Given the description of an element on the screen output the (x, y) to click on. 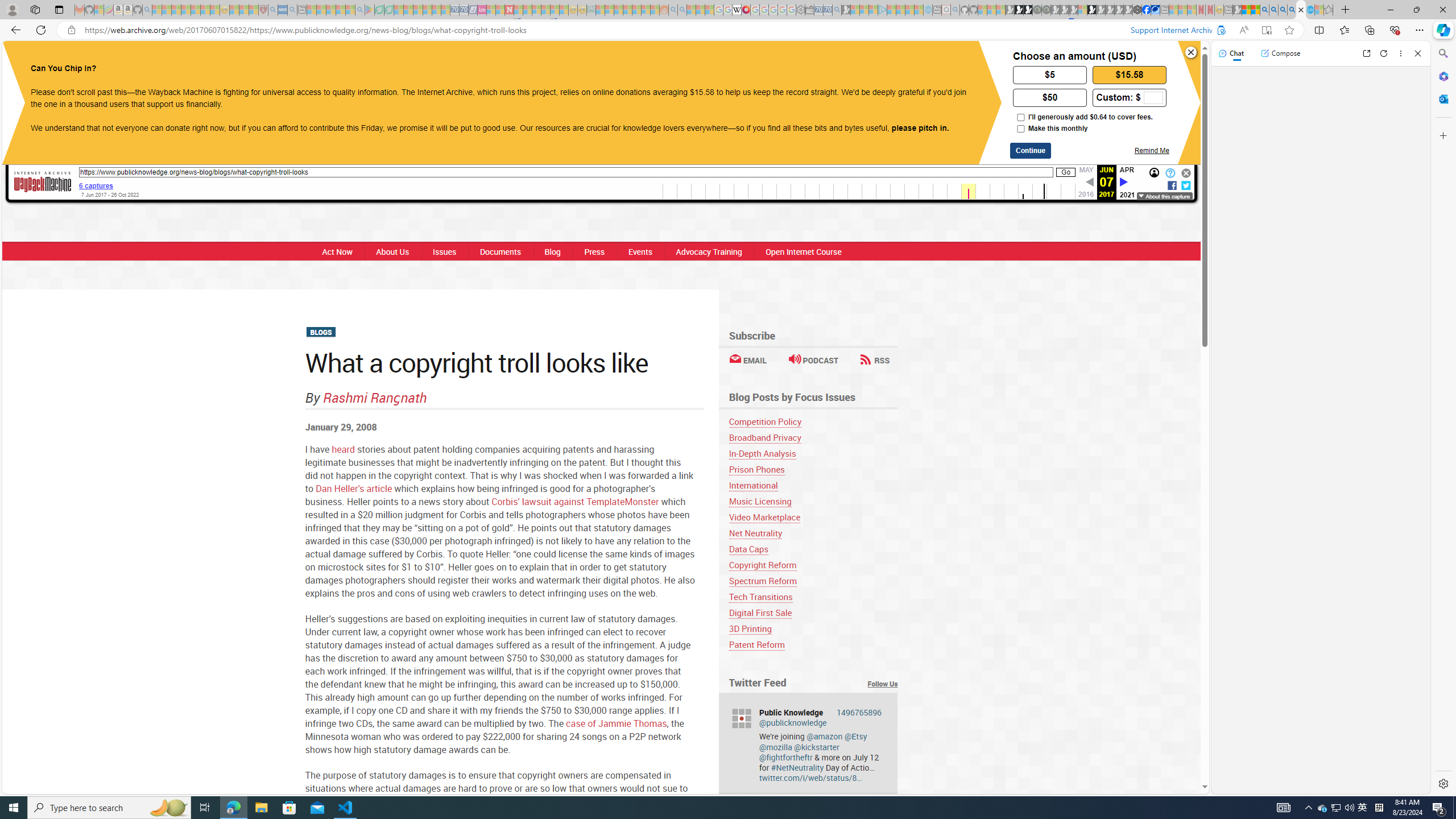
Previous capture (1088, 181)
Wallet - Sleeping (809, 9)
Explore captures for this URL (868, 191)
Data Caps (813, 548)
Services - Maintenance | Sky Blue Bikes - Sky Blue Bikes (1309, 9)
@amazon (824, 736)
heard (343, 448)
